Given the description of an element on the screen output the (x, y) to click on. 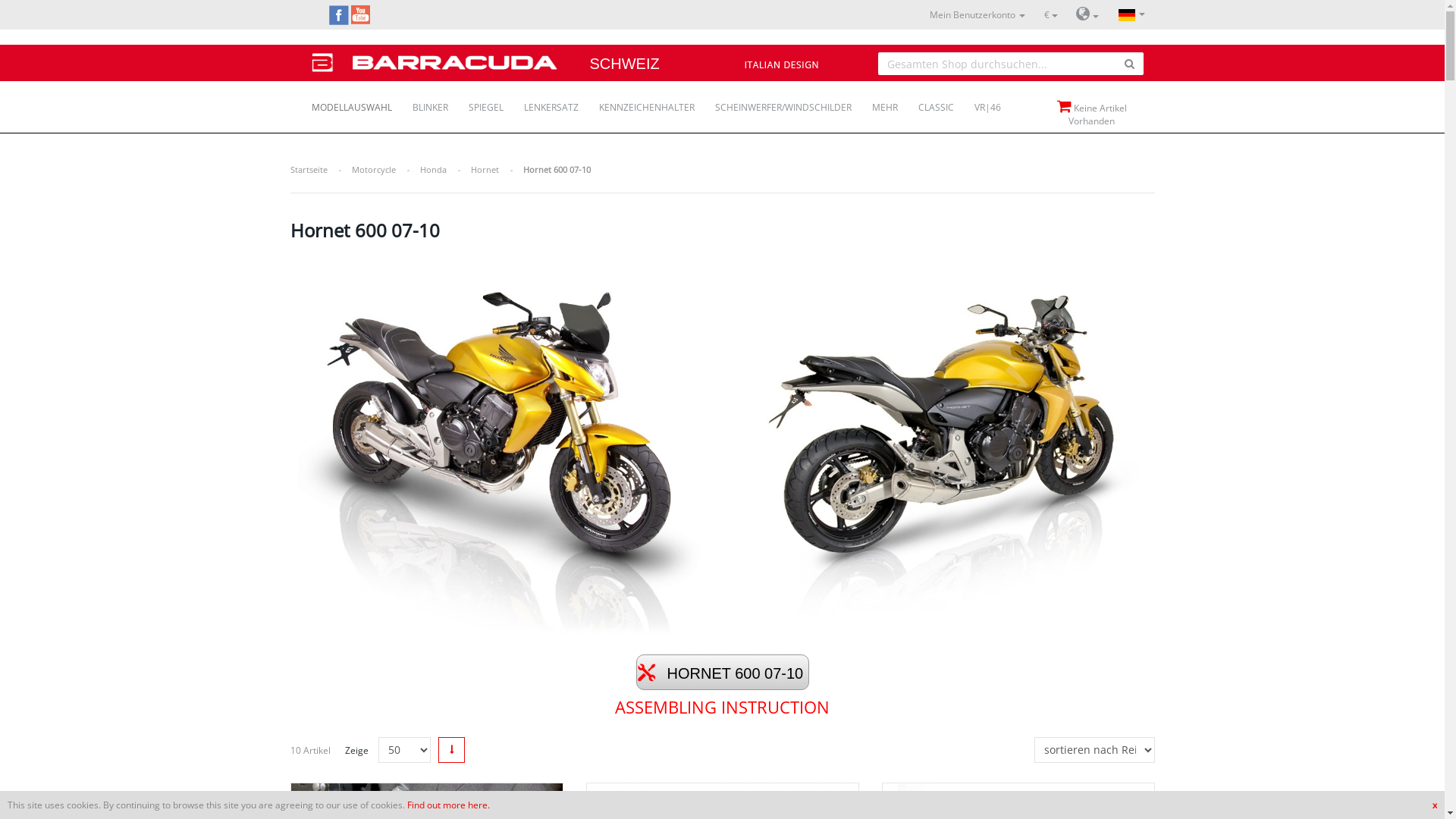
MODELLAUSWAHL Element type: text (342, 101)
Barracuda Element type: hover (434, 55)
Hornet 600 07-10 Element type: hover (721, 446)
SCHEINWERFER/WINDSCHILDER Element type: text (773, 101)
Suche Element type: hover (1129, 63)
KENNZEICHENHALTER Element type: text (636, 101)
Hornet Element type: text (484, 169)
x Element type: text (1434, 804)
MEHR Element type: text (874, 101)
LENKERSATZ Element type: text (541, 101)
Motorcycle Element type: text (373, 169)
BLINKER Element type: text (419, 101)
SPIEGEL Element type: text (475, 101)
Startseite Element type: text (307, 169)
Find out more here. Element type: text (448, 804)
VR|46 Element type: text (978, 101)
Mein Benutzerkonto Element type: text (977, 14)
Keine Artikel Vorhanden Element type: text (1091, 112)
CLASSIC Element type: text (926, 101)
HORNET 600 07-10 Element type: text (721, 672)
Honda Element type: text (433, 169)
In absteigender Reihenfolge Element type: hover (451, 749)
